Given the description of an element on the screen output the (x, y) to click on. 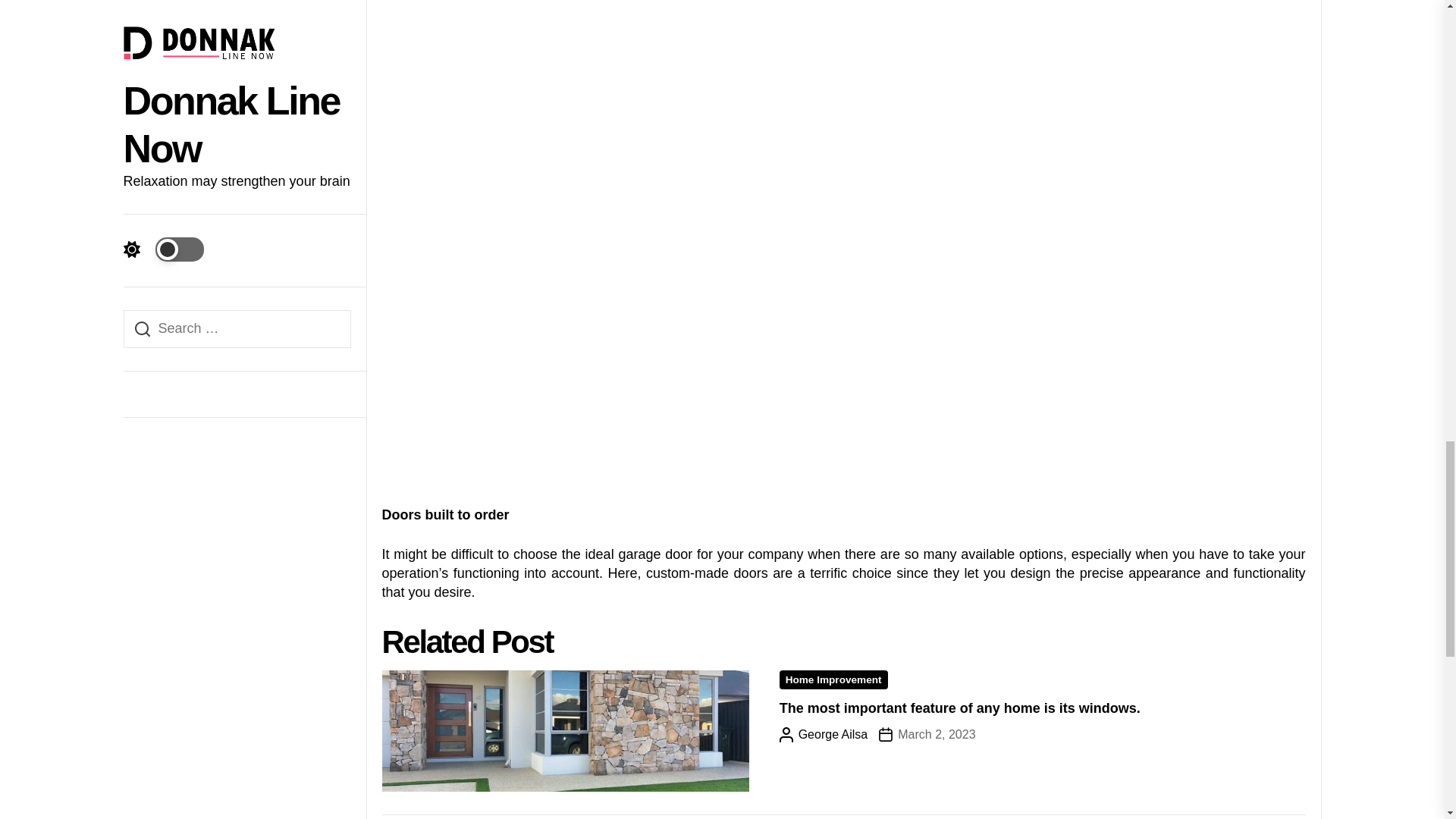
The most important feature of any home is its windows. (959, 708)
Home Improvement (833, 679)
George Ailsa (822, 734)
March 2, 2023 (927, 734)
